Given the description of an element on the screen output the (x, y) to click on. 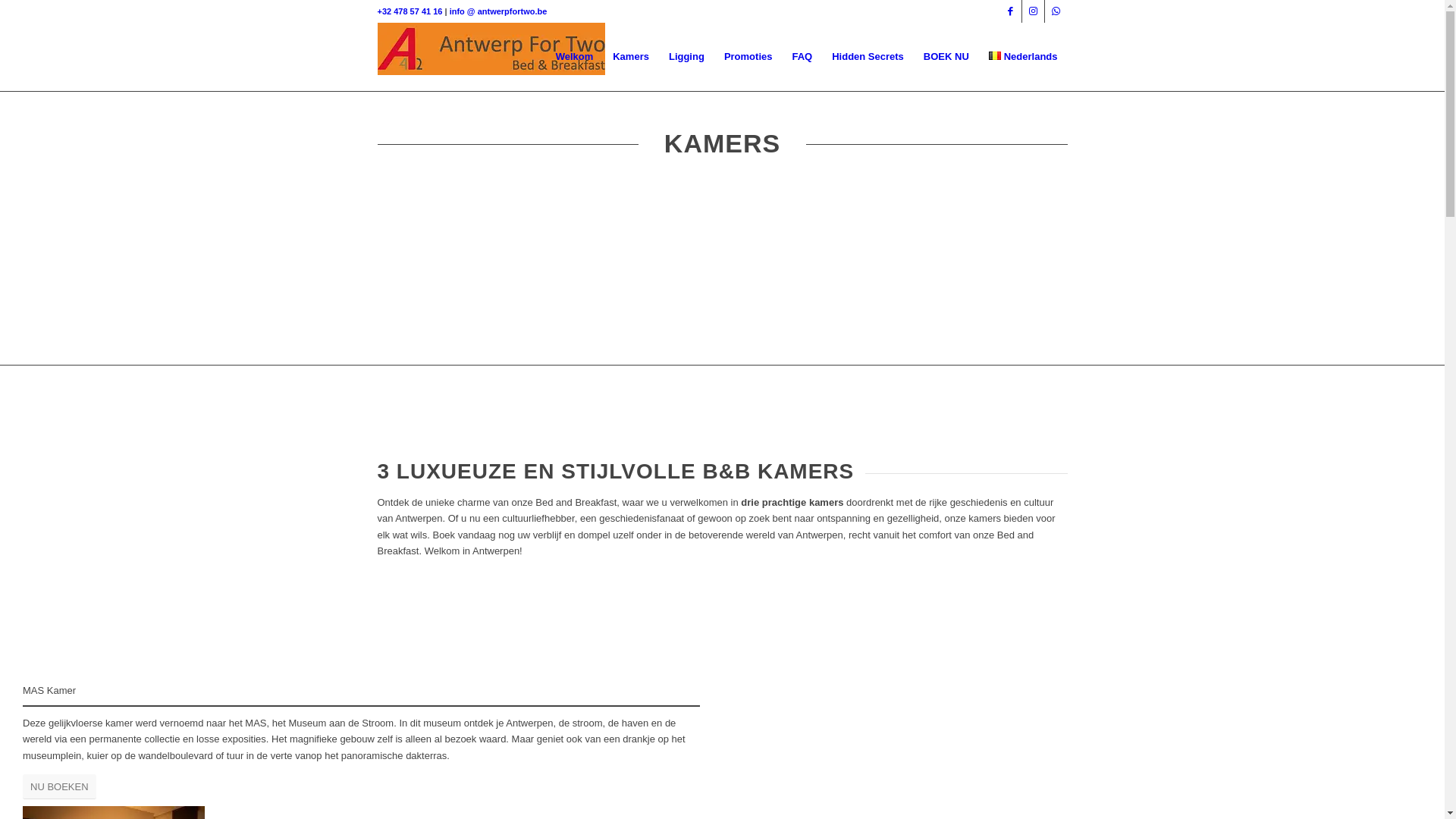
Kamers Element type: text (630, 56)
antwerp-for-two-logo-web Element type: hover (491, 48)
Ligging Element type: text (686, 56)
Instagram Element type: hover (1033, 11)
Welkom Element type: text (574, 56)
info @ antwerpfortwo.be Element type: text (498, 10)
WhatsApp Element type: hover (1055, 11)
Hidden Secrets Element type: text (867, 56)
Nederlands Element type: text (1023, 56)
NU BOEKEN Element type: text (59, 786)
Promoties Element type: text (748, 56)
+32 478 57 41 16 Element type: text (409, 10)
BOEK NU Element type: text (946, 56)
Facebook Element type: hover (1010, 11)
FAQ Element type: text (801, 56)
antwerp-for-two-logo-web Element type: hover (491, 56)
